Given the description of an element on the screen output the (x, y) to click on. 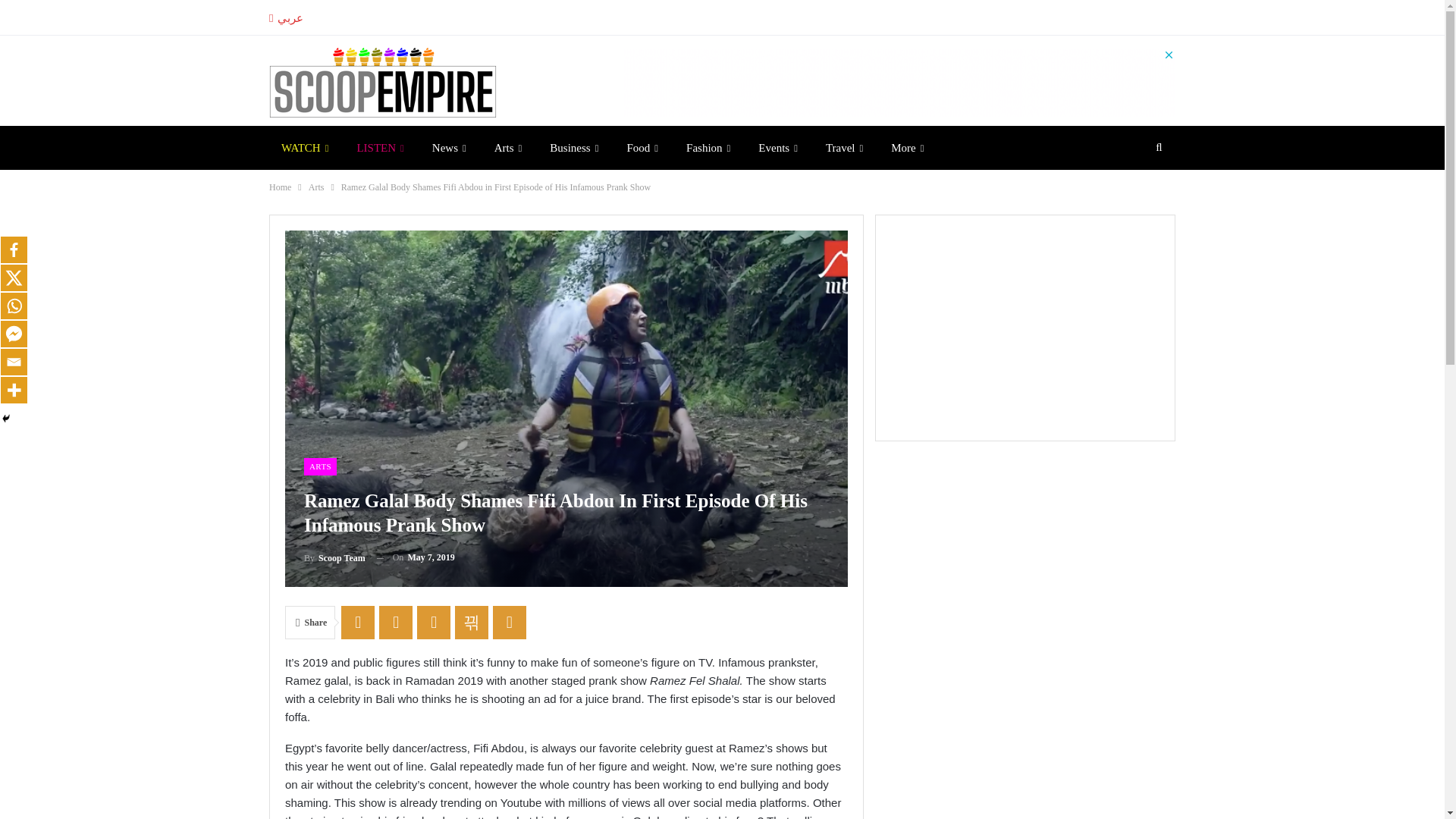
Arts (507, 147)
News (449, 147)
3rd party ad content (898, 82)
Business (573, 147)
LISTEN (378, 147)
WATCH (304, 147)
